Given the description of an element on the screen output the (x, y) to click on. 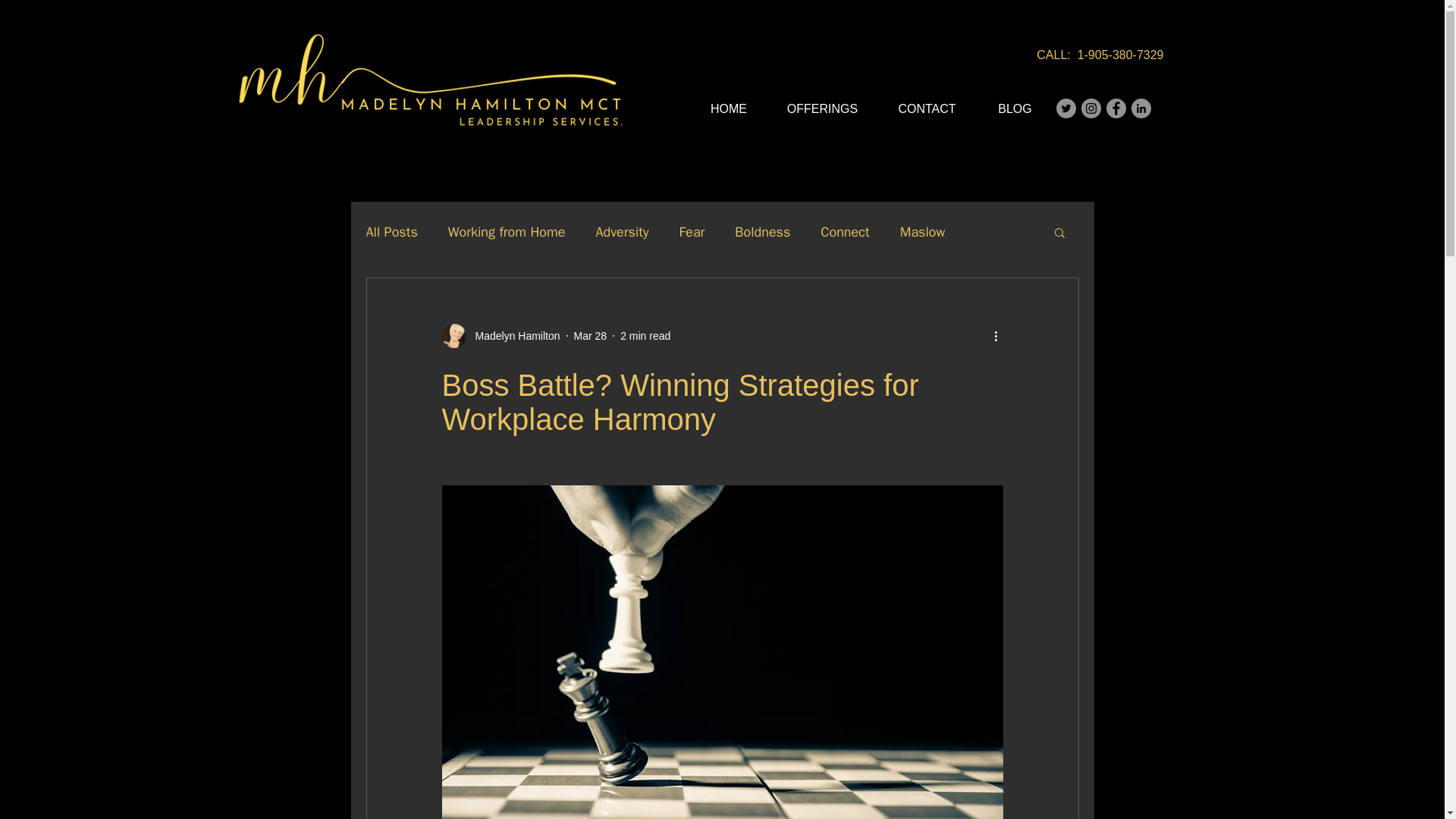
Connect (845, 231)
1-905-380-7329 (1120, 54)
Maslow (921, 231)
Boldness (762, 231)
OFFERINGS (821, 108)
2 min read (644, 335)
Adversity (621, 231)
Fear (691, 231)
CONTACT (926, 108)
Working from Home (507, 231)
BLOG (1013, 108)
All Posts (390, 231)
HOME (729, 108)
Madelyn Hamilton (500, 335)
Madelyn Hamilton (512, 335)
